Given the description of an element on the screen output the (x, y) to click on. 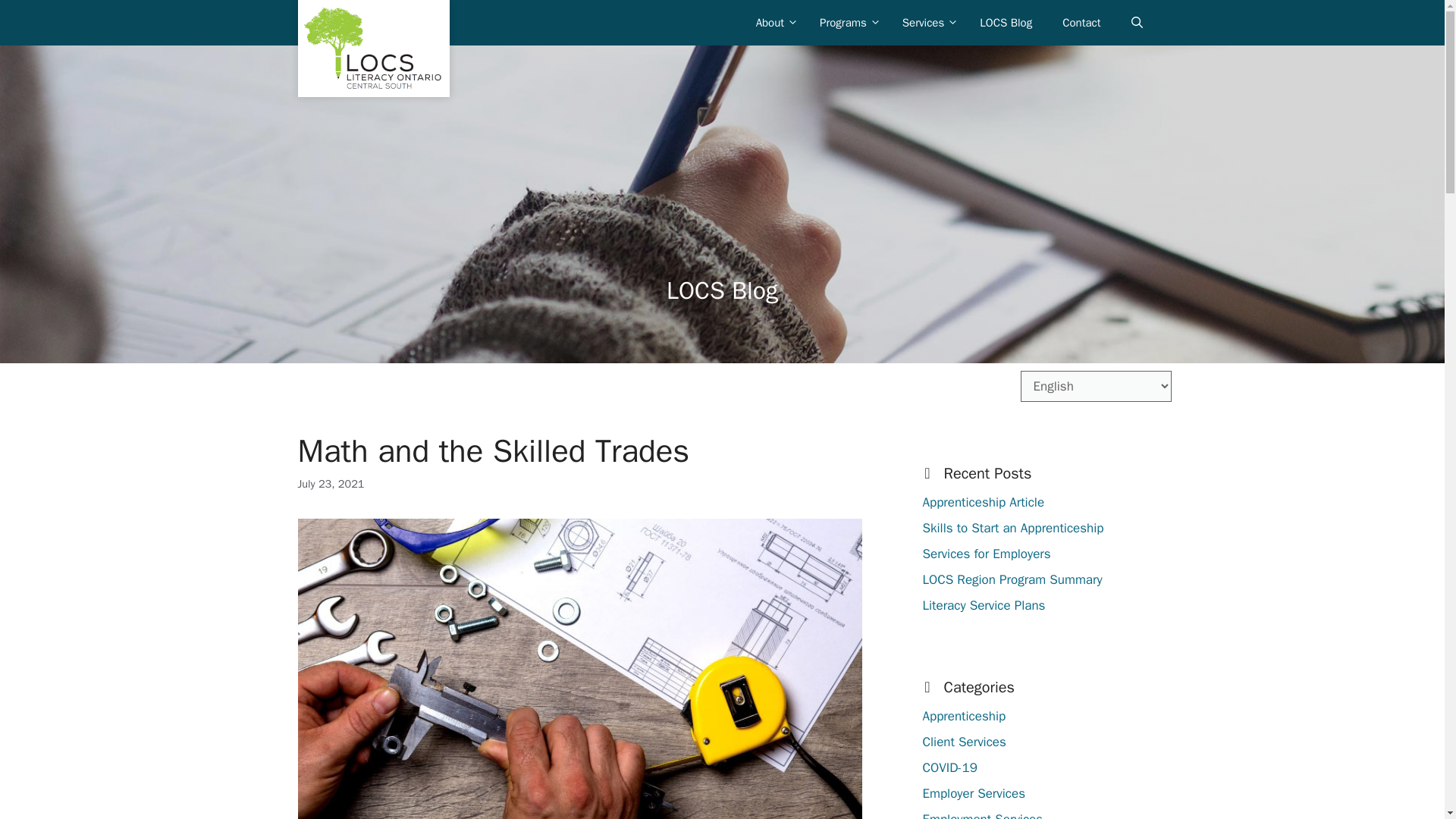
Services (924, 22)
About (773, 22)
Contact (1080, 22)
Programs (845, 22)
LOCS Blog (1004, 22)
